Given the description of an element on the screen output the (x, y) to click on. 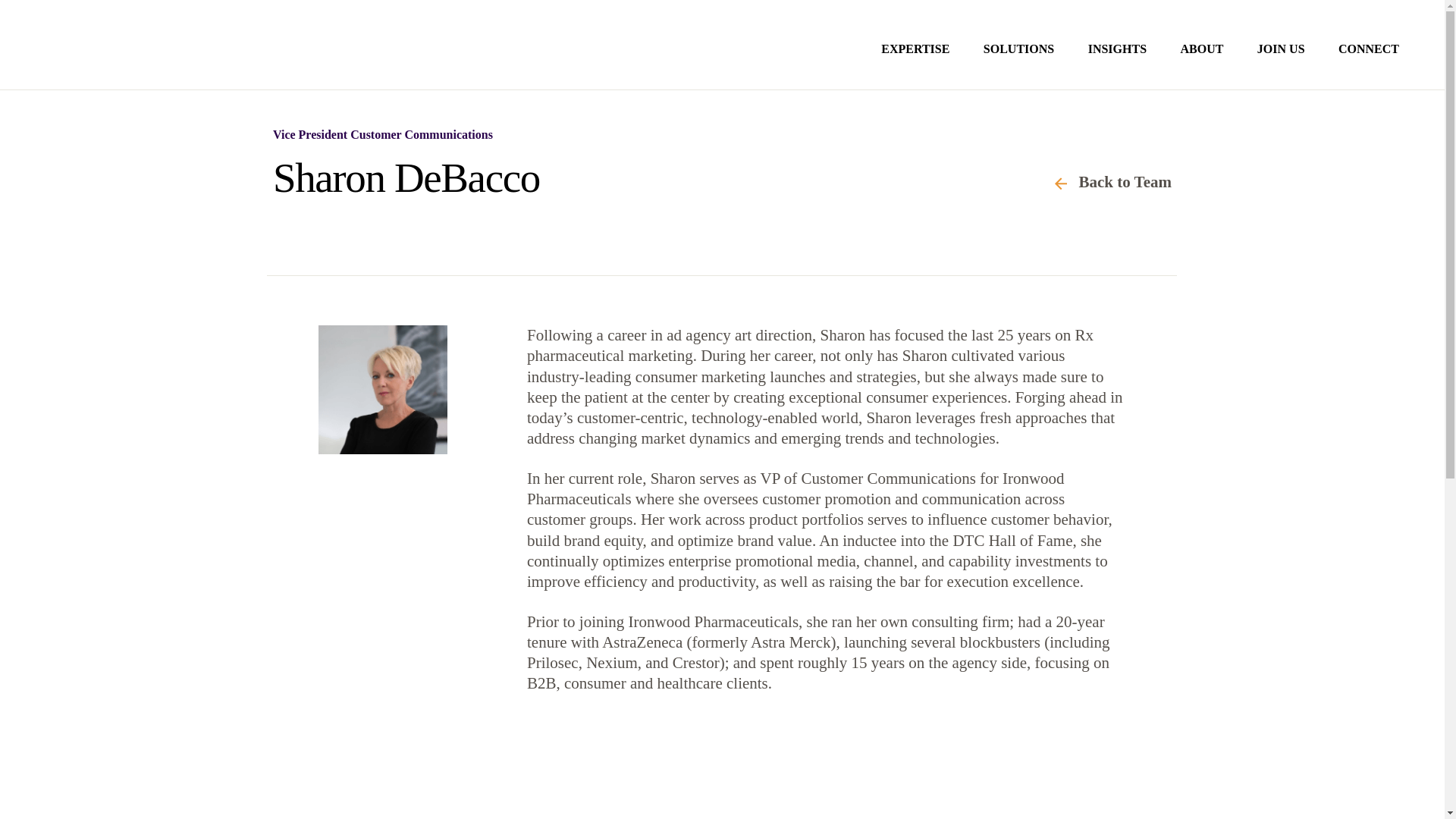
CONNECT (1368, 65)
Back to Team (1111, 181)
SOLUTIONS (1019, 65)
ABOUT (1201, 65)
EXPERTISE (914, 65)
INSIGHTS (1117, 65)
JOIN US (1280, 65)
